Given the description of an element on the screen output the (x, y) to click on. 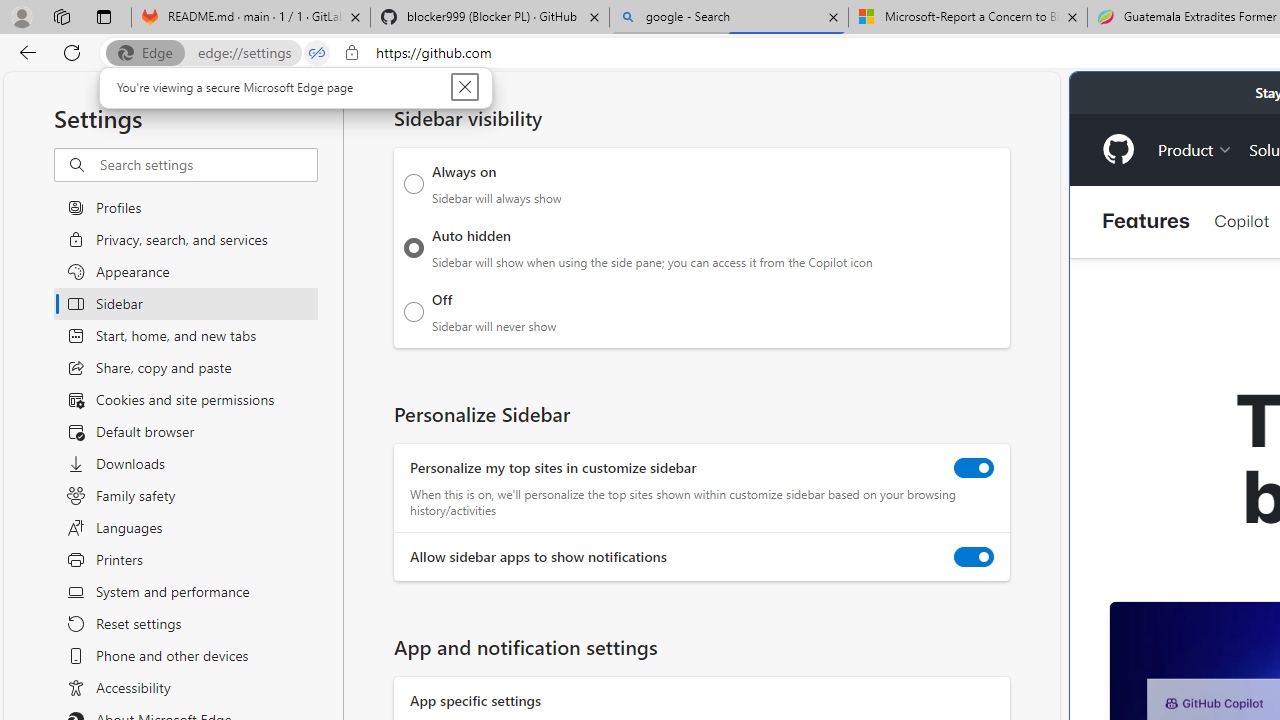
Personal Profile (21, 16)
Always on Sidebar will always show (413, 183)
Features (1146, 221)
Allow sidebar apps to show notifications (973, 557)
Off Sidebar will never show (413, 311)
Workspaces (61, 16)
Homepage (1118, 149)
google - Search (729, 17)
Personalize my top sites in customize sidebar (973, 467)
Product (1195, 148)
